Given the description of an element on the screen output the (x, y) to click on. 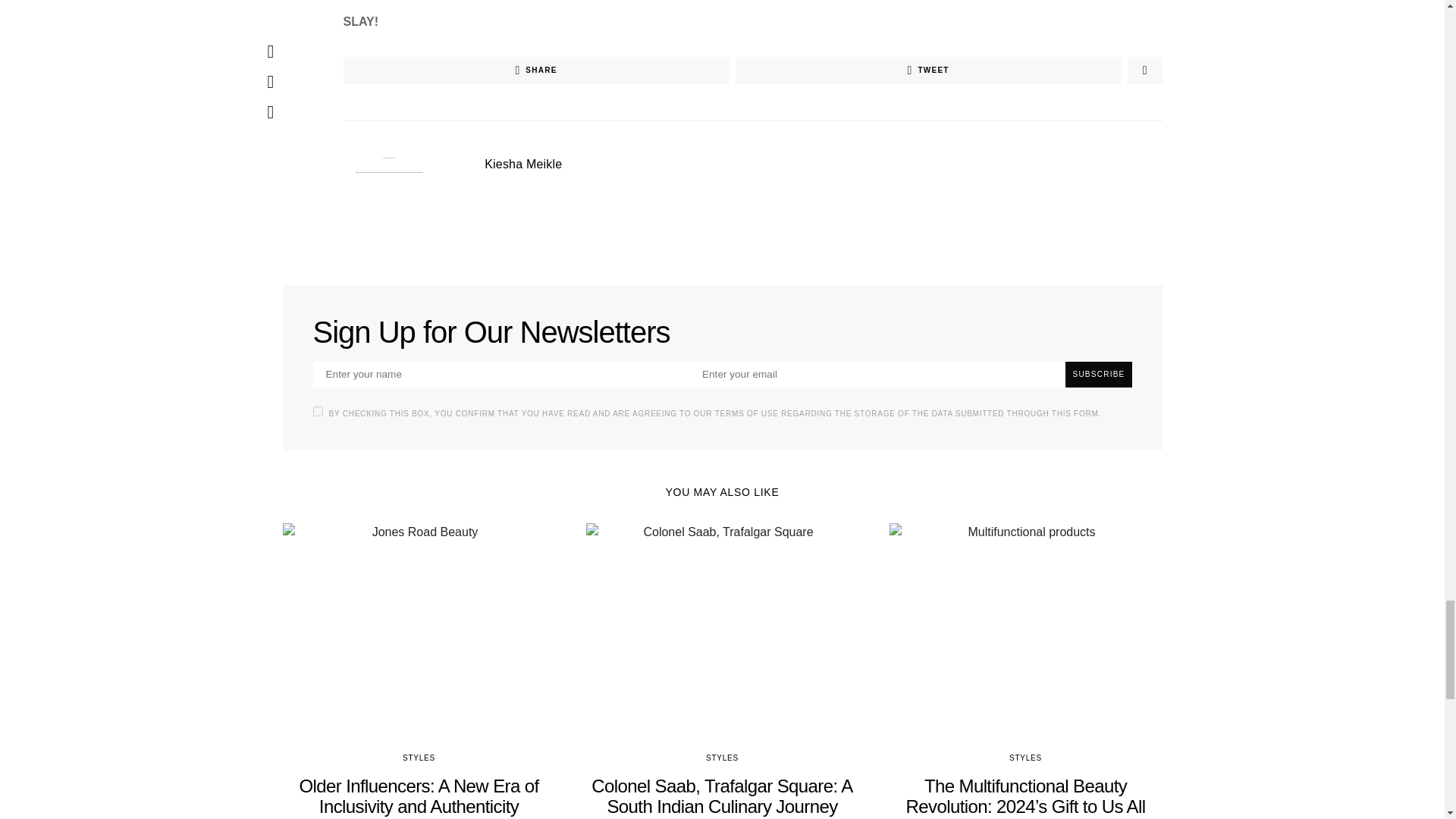
on (317, 411)
